Given the description of an element on the screen output the (x, y) to click on. 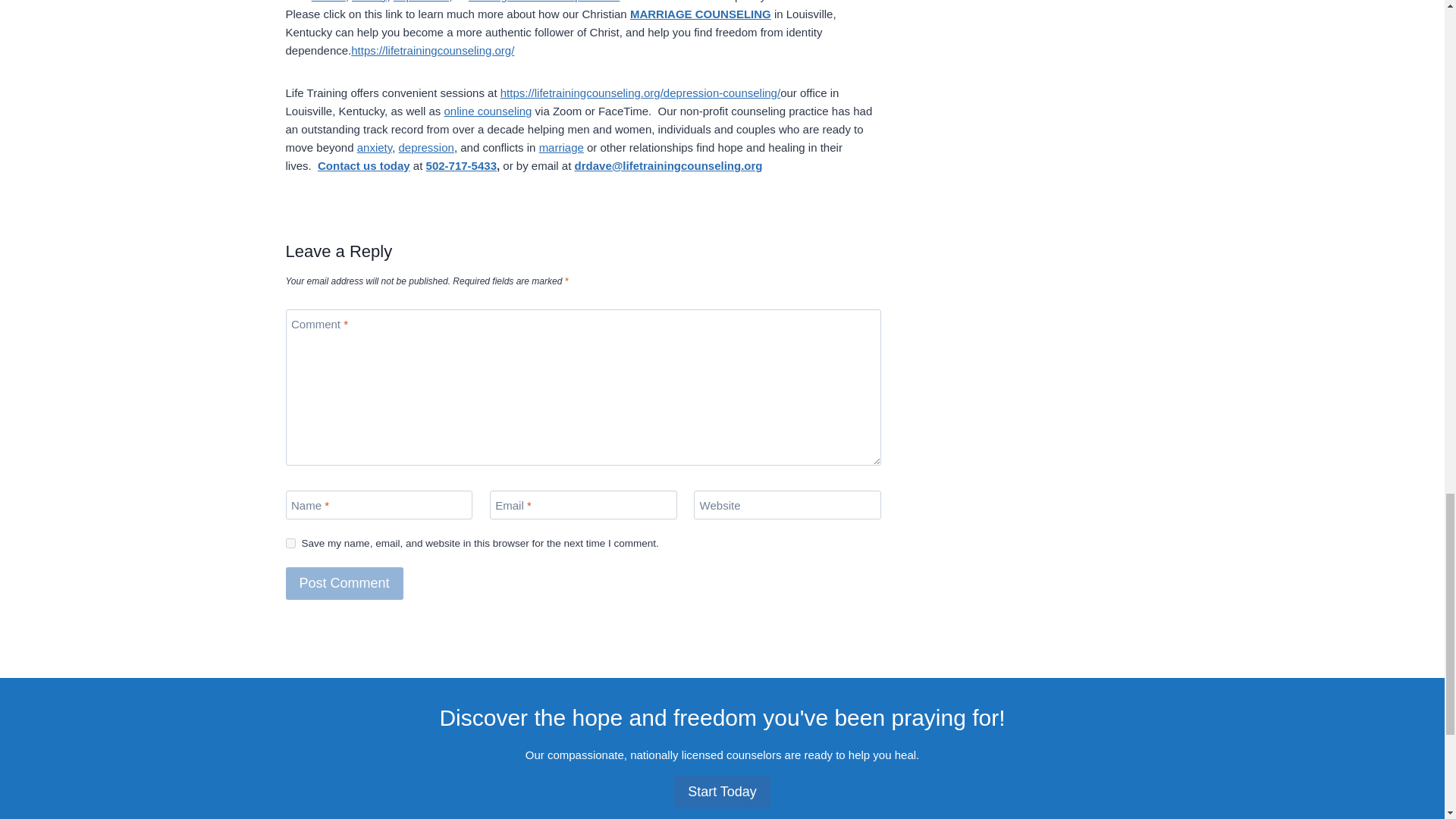
Post Comment (344, 583)
shame (328, 1)
anxiety (369, 1)
yes (290, 542)
